Given the description of an element on the screen output the (x, y) to click on. 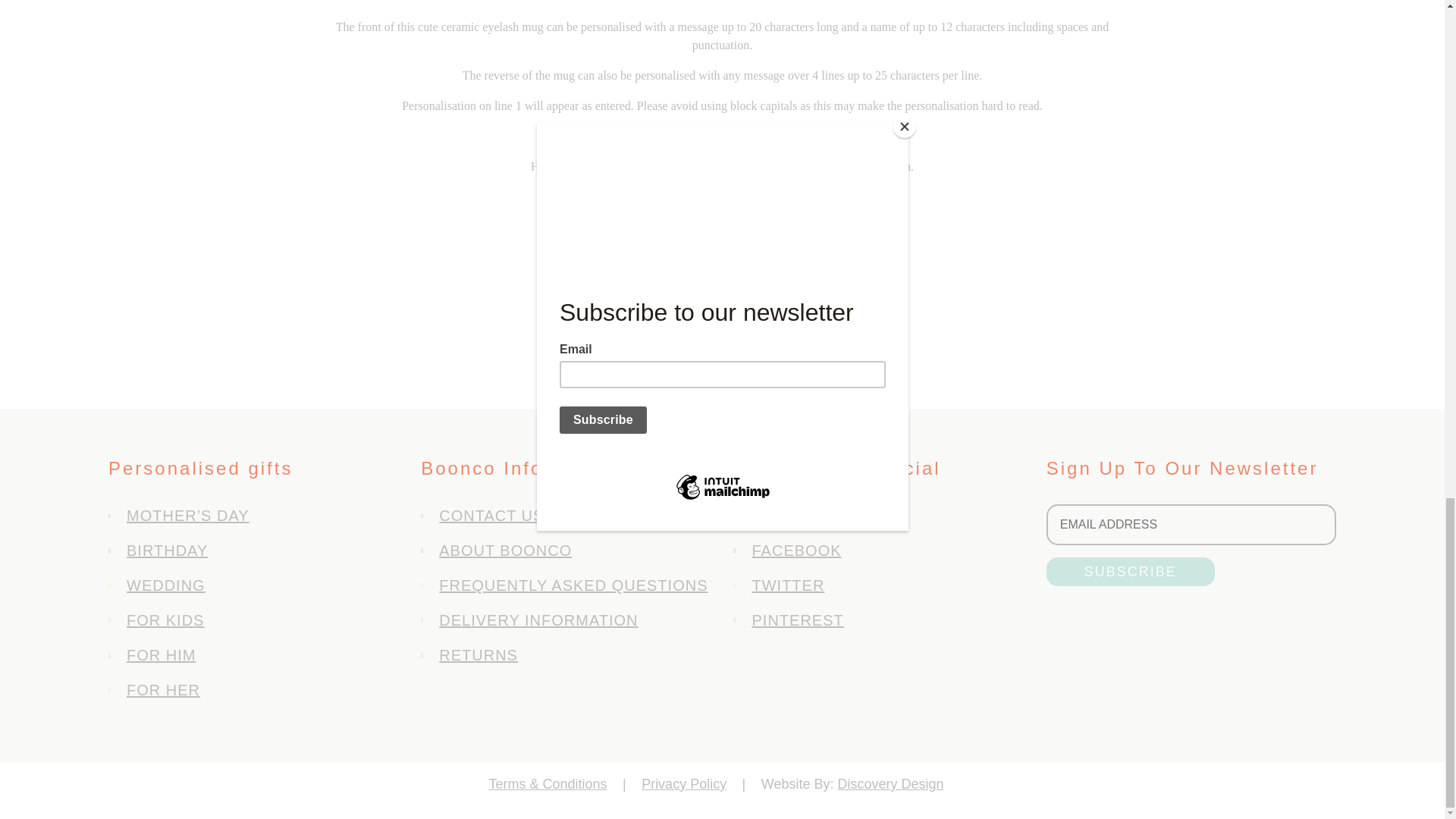
Subscribe (1130, 571)
